Given the description of an element on the screen output the (x, y) to click on. 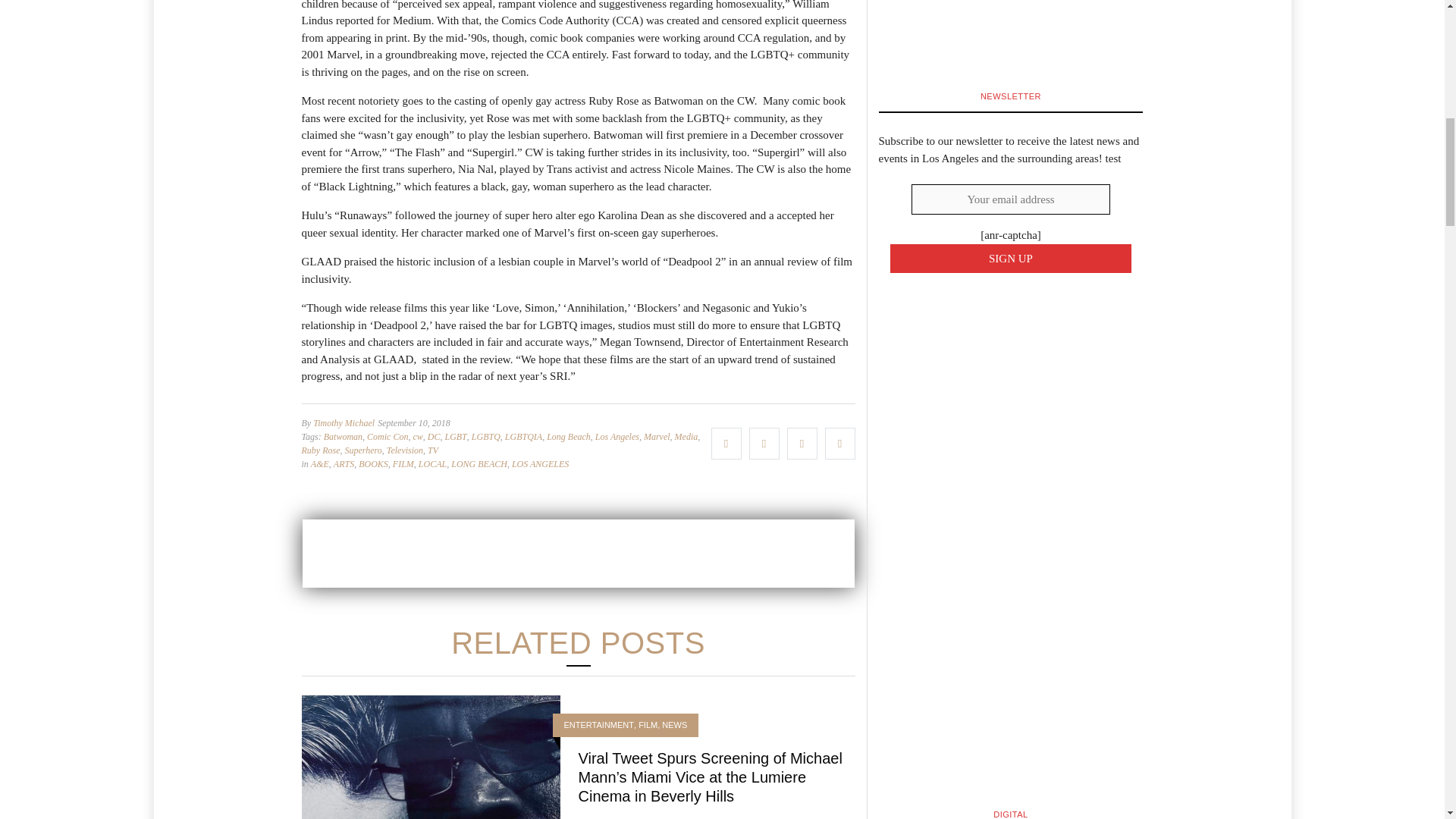
DC (434, 436)
Posts by Timothy Michael (343, 421)
Batwoman (342, 436)
Comic Con (386, 436)
3rd party ad content (577, 552)
Sign up (1010, 258)
Timothy Michael (343, 421)
